Given the description of an element on the screen output the (x, y) to click on. 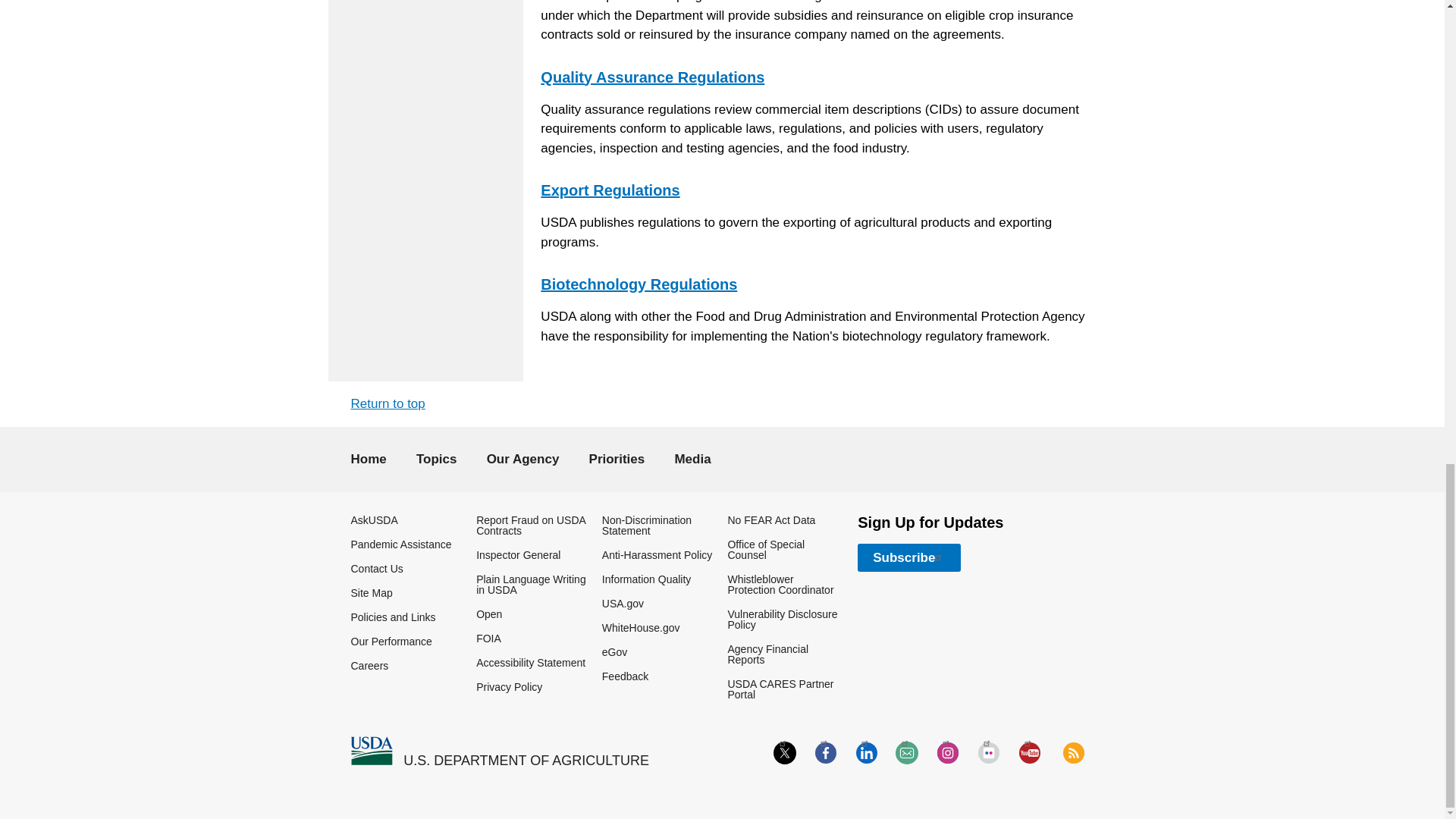
Home (370, 750)
Home (526, 760)
